Given the description of an element on the screen output the (x, y) to click on. 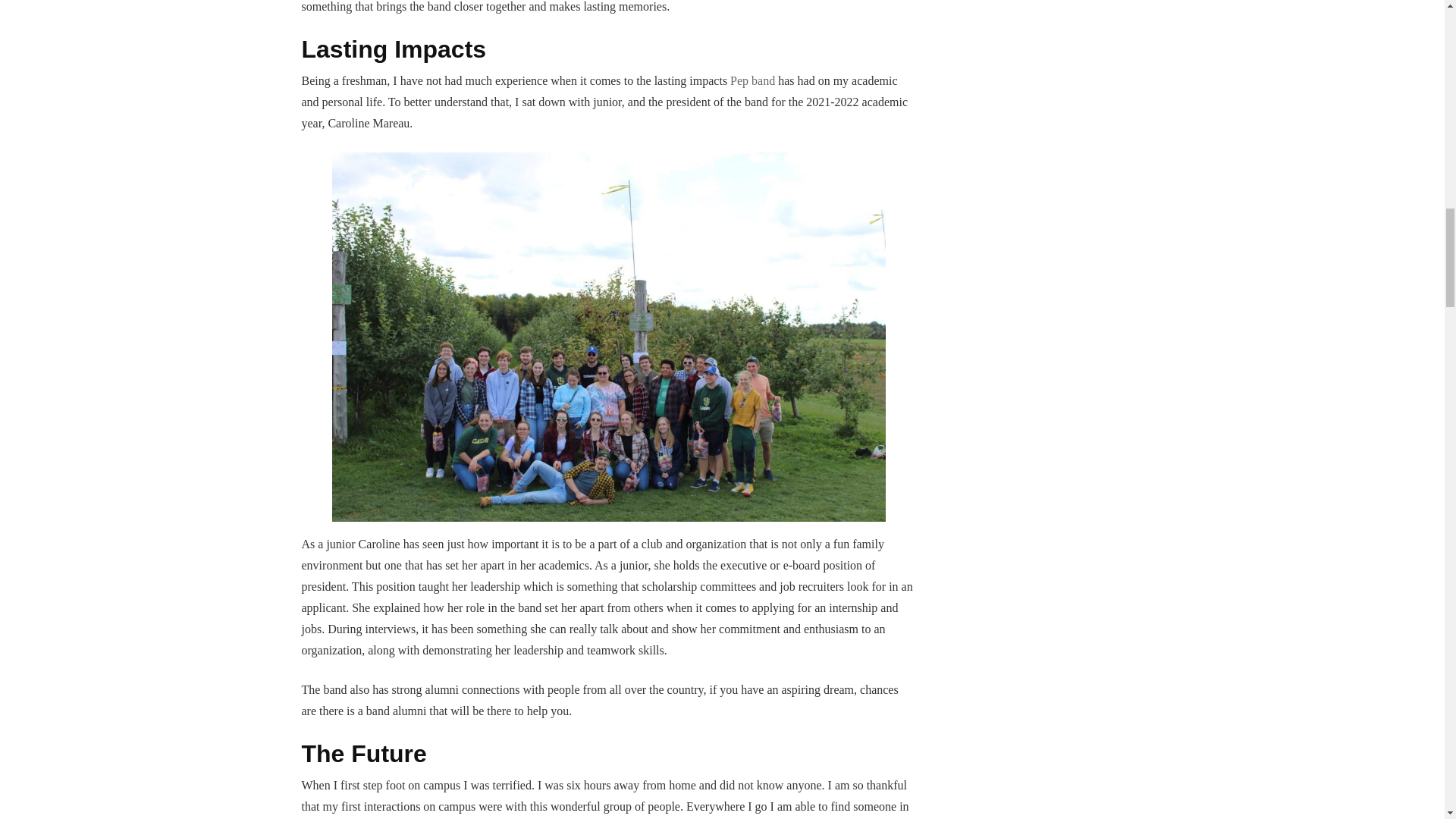
Pep band (752, 80)
